Given the description of an element on the screen output the (x, y) to click on. 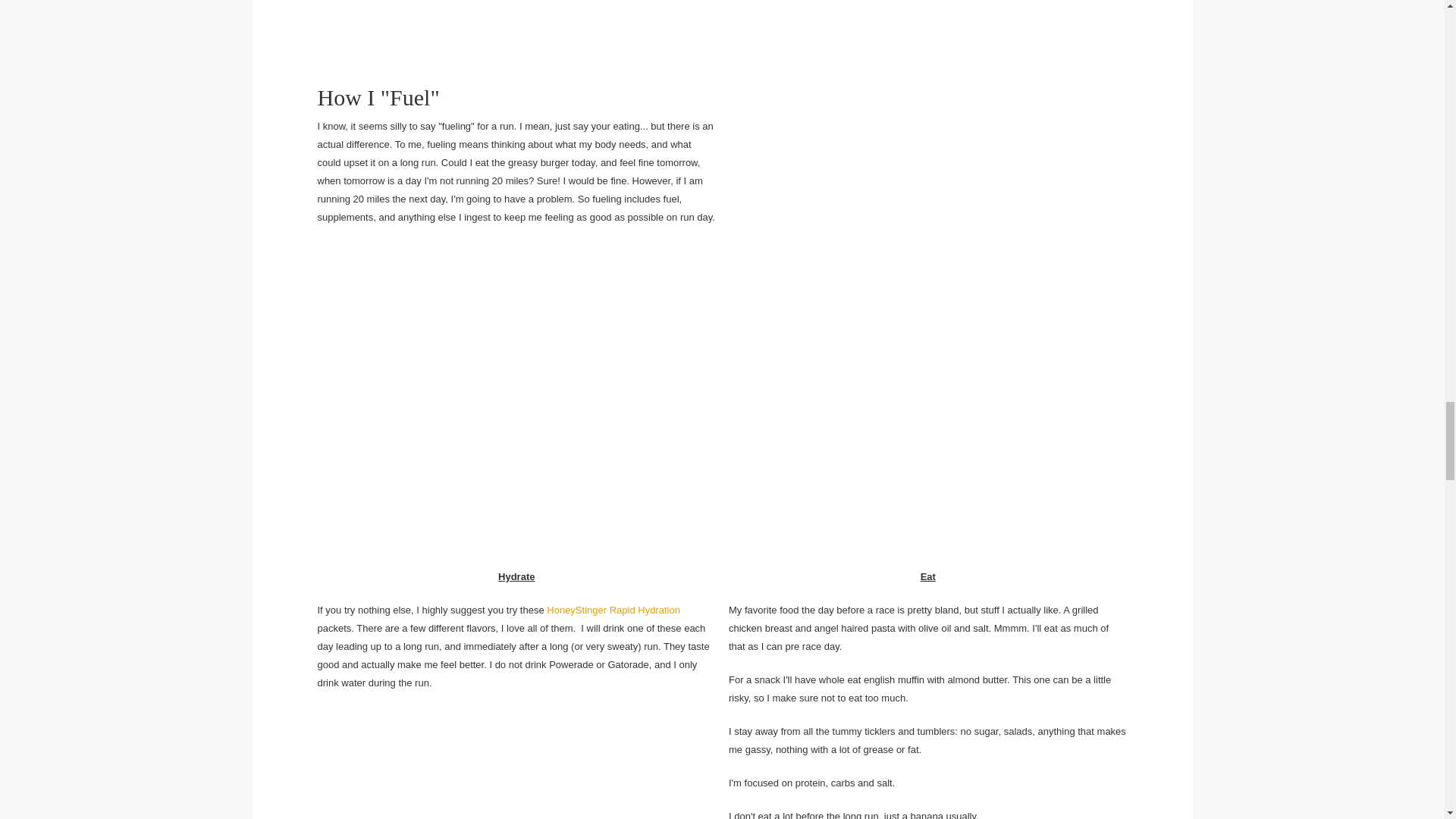
HoneyStinger Rapid Hydration (613, 609)
